Given the description of an element on the screen output the (x, y) to click on. 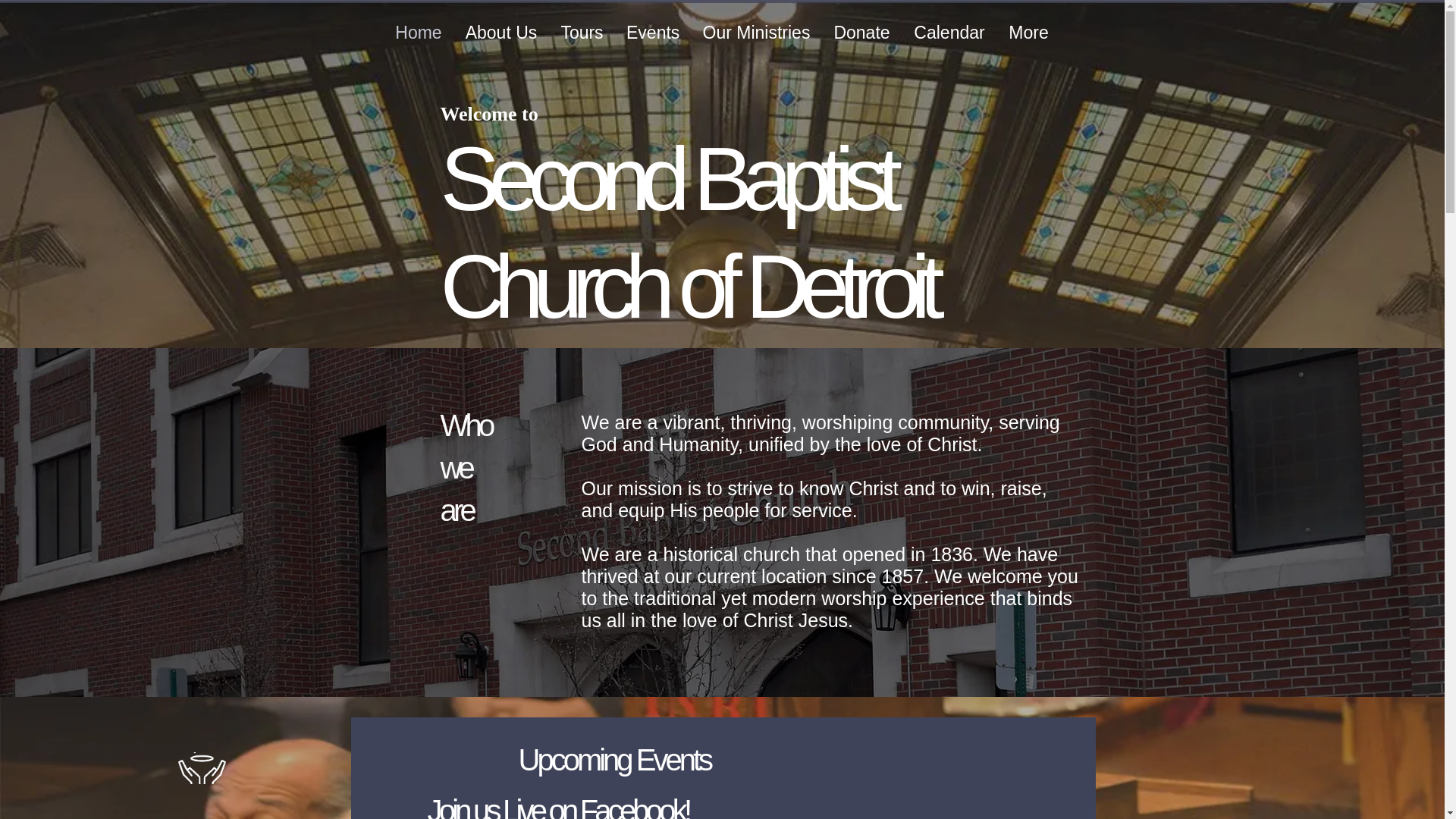
Our Ministries (756, 32)
HERE (809, 510)
Home (418, 32)
Tours (581, 32)
Calendar (949, 32)
Donate (861, 32)
Events (652, 32)
About Us (500, 32)
